Given the description of an element on the screen output the (x, y) to click on. 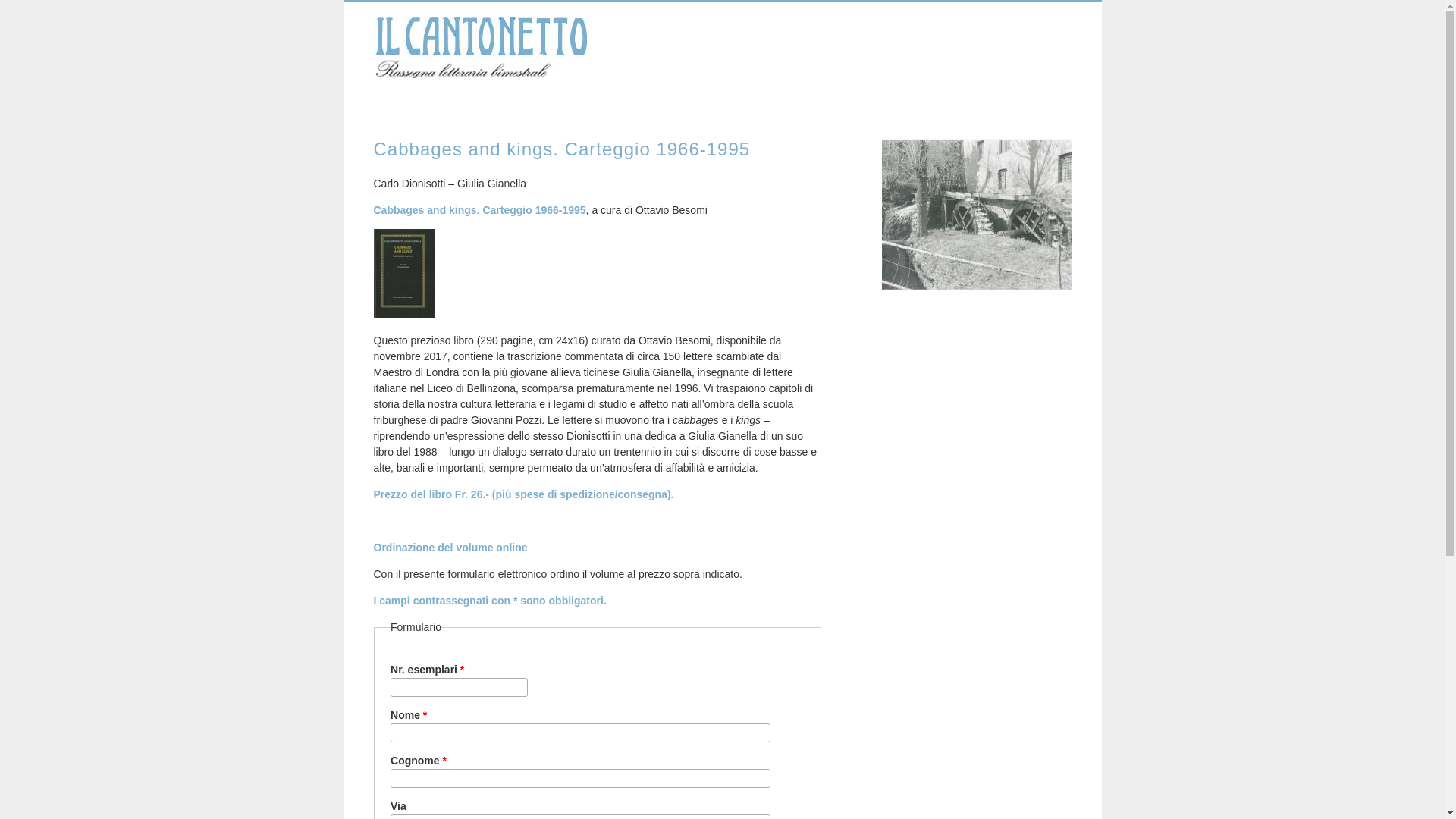
Home Element type: hover (479, 71)
